Given the description of an element on the screen output the (x, y) to click on. 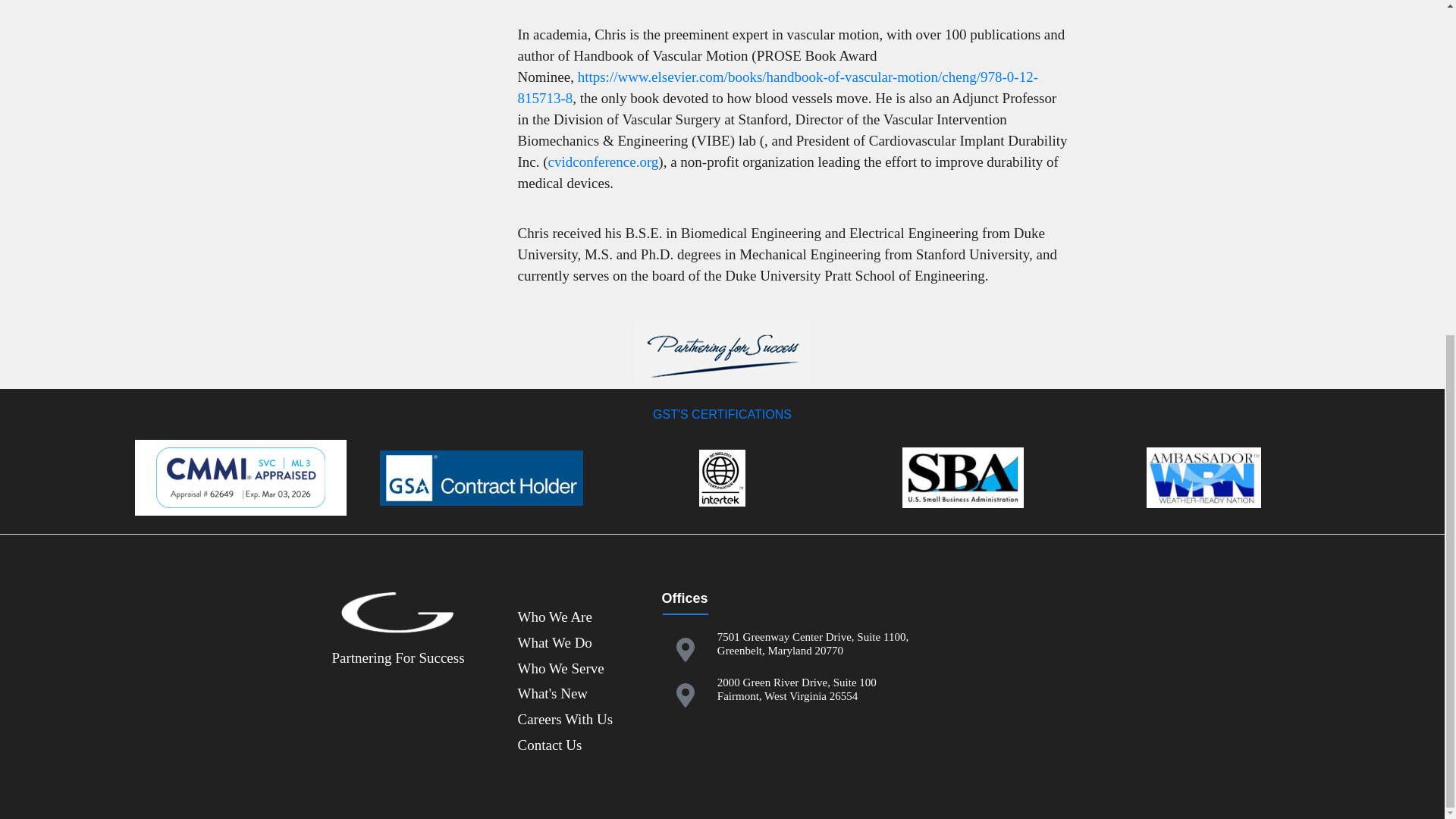
Contact Us (548, 744)
Careers With Us (564, 719)
What We Do (553, 642)
Who We Serve (560, 668)
Who We Are (553, 616)
cvidconference.org (603, 161)
What's New (552, 693)
